Given the description of an element on the screen output the (x, y) to click on. 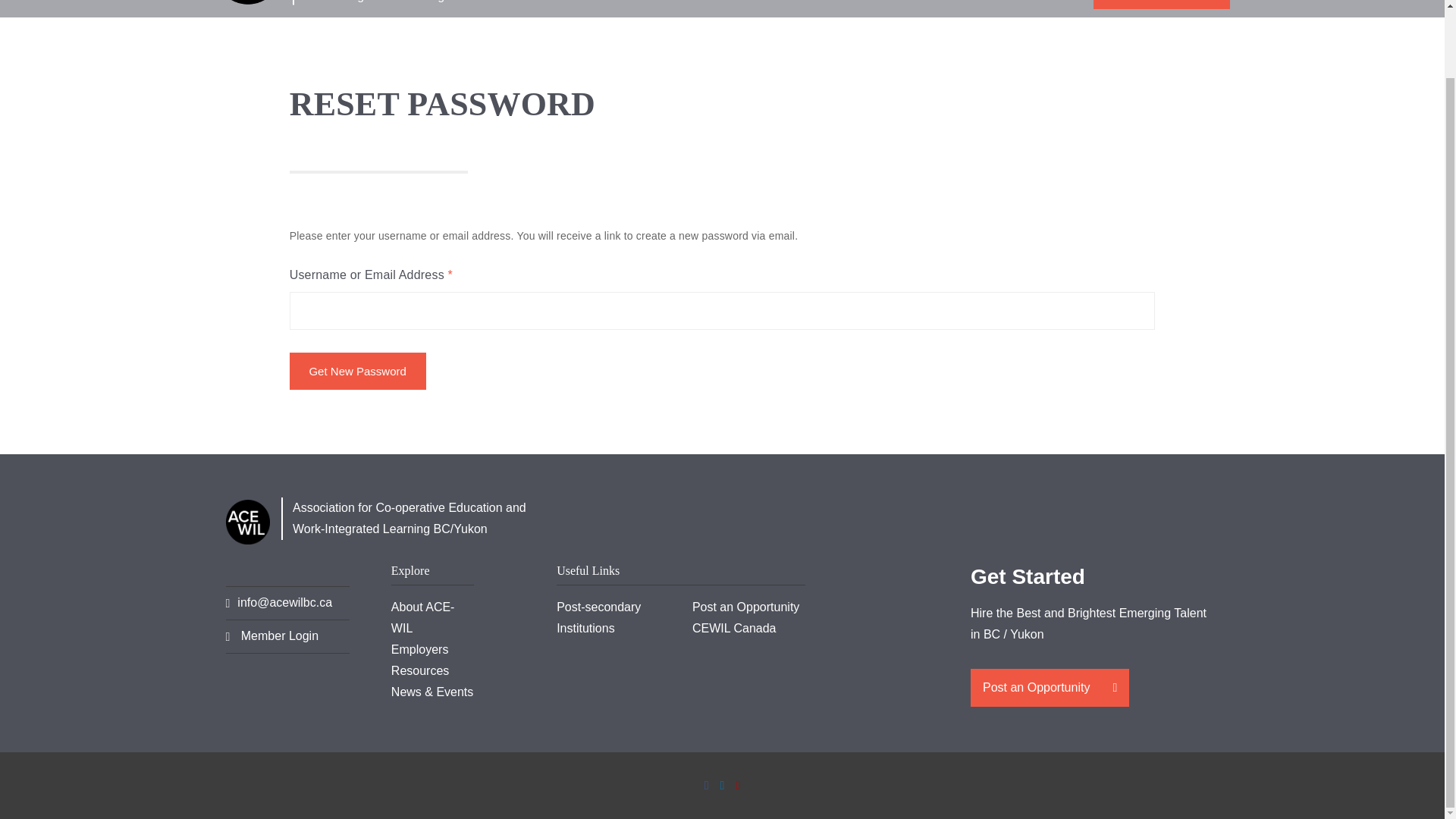
About ACE-WIL (756, 8)
Employers (853, 8)
Resources (933, 8)
About ACE-WIL (756, 8)
Get New Password (357, 370)
